Given the description of an element on the screen output the (x, y) to click on. 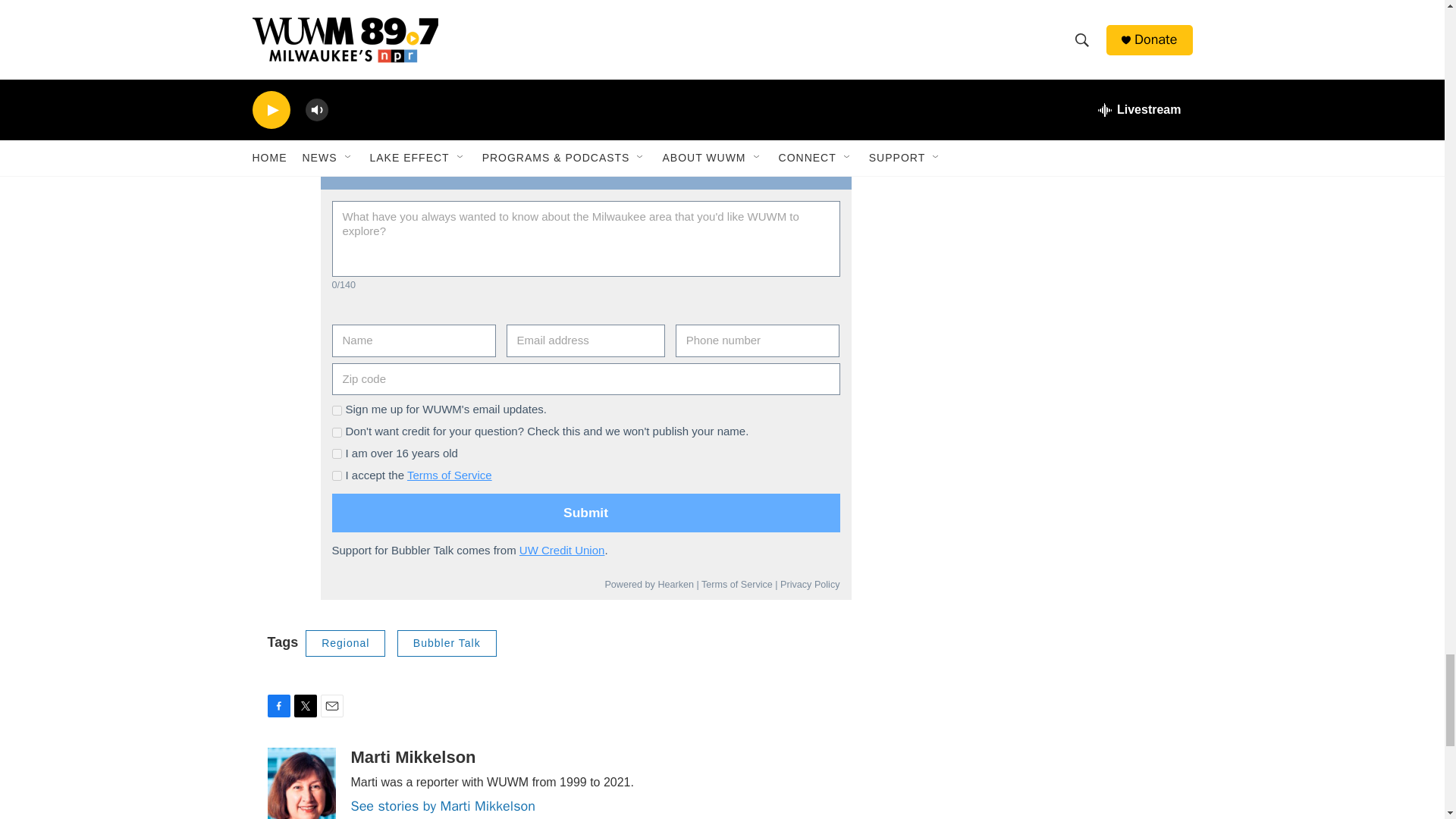
on (336, 475)
on (336, 432)
on (336, 410)
on (336, 453)
